Given the description of an element on the screen output the (x, y) to click on. 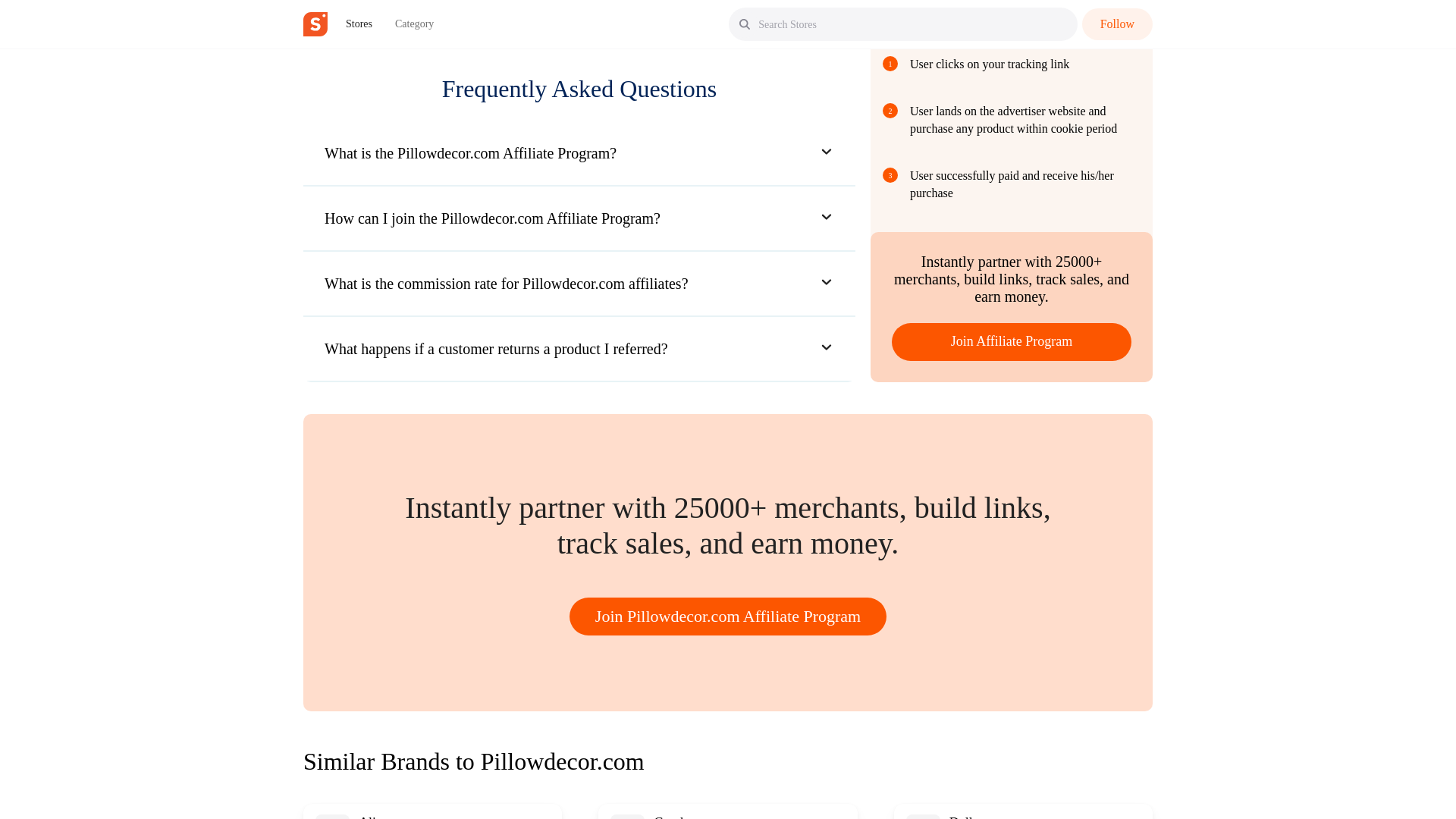
Aliexpress.com (401, 816)
Join Pillowdecor.com Affiliate Program (727, 616)
Dell.com (973, 816)
Join Pillowdecor.com Affiliate Program (727, 615)
Gearbest.com (691, 816)
